Given the description of an element on the screen output the (x, y) to click on. 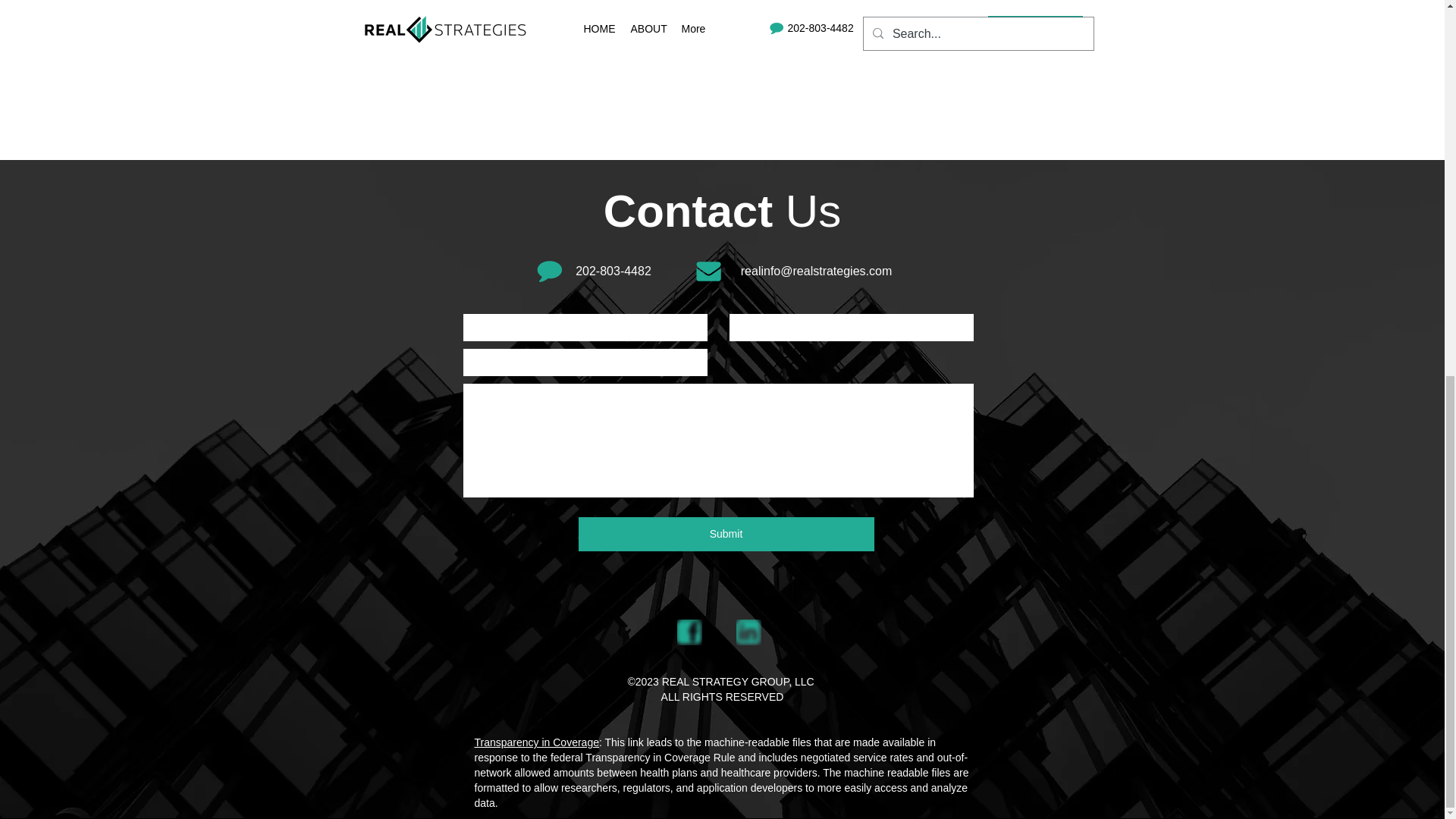
Transparency in Coverage (536, 742)
Submit (725, 533)
